Given the description of an element on the screen output the (x, y) to click on. 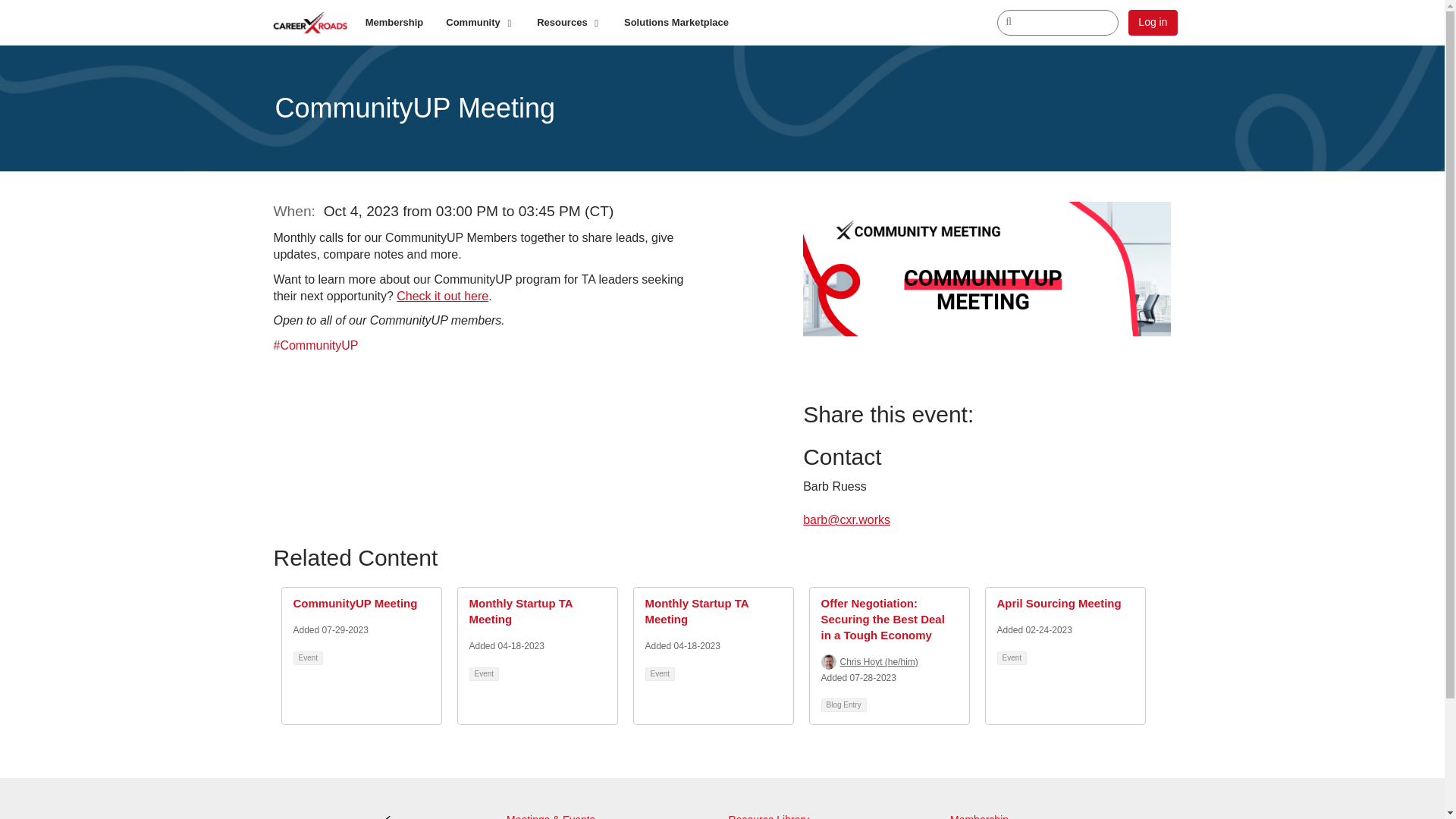
April Sourcing Meeting (1058, 603)
Solutions Marketplace (675, 22)
Log in (1152, 22)
Monthly Startup TA Meeting (520, 611)
search (1057, 22)
Community (479, 22)
April Sourcing Meeting (1058, 603)
CommunityUP Meeting (354, 603)
Meetings (529, 816)
Monthly Startup TA Meeting (520, 611)
Monthly Startup TA Meeting (696, 611)
CommunityUP Meeting (354, 603)
Check it out here (441, 295)
Membership (394, 22)
Monthly Startup TA Meeting (696, 611)
